Given the description of an element on the screen output the (x, y) to click on. 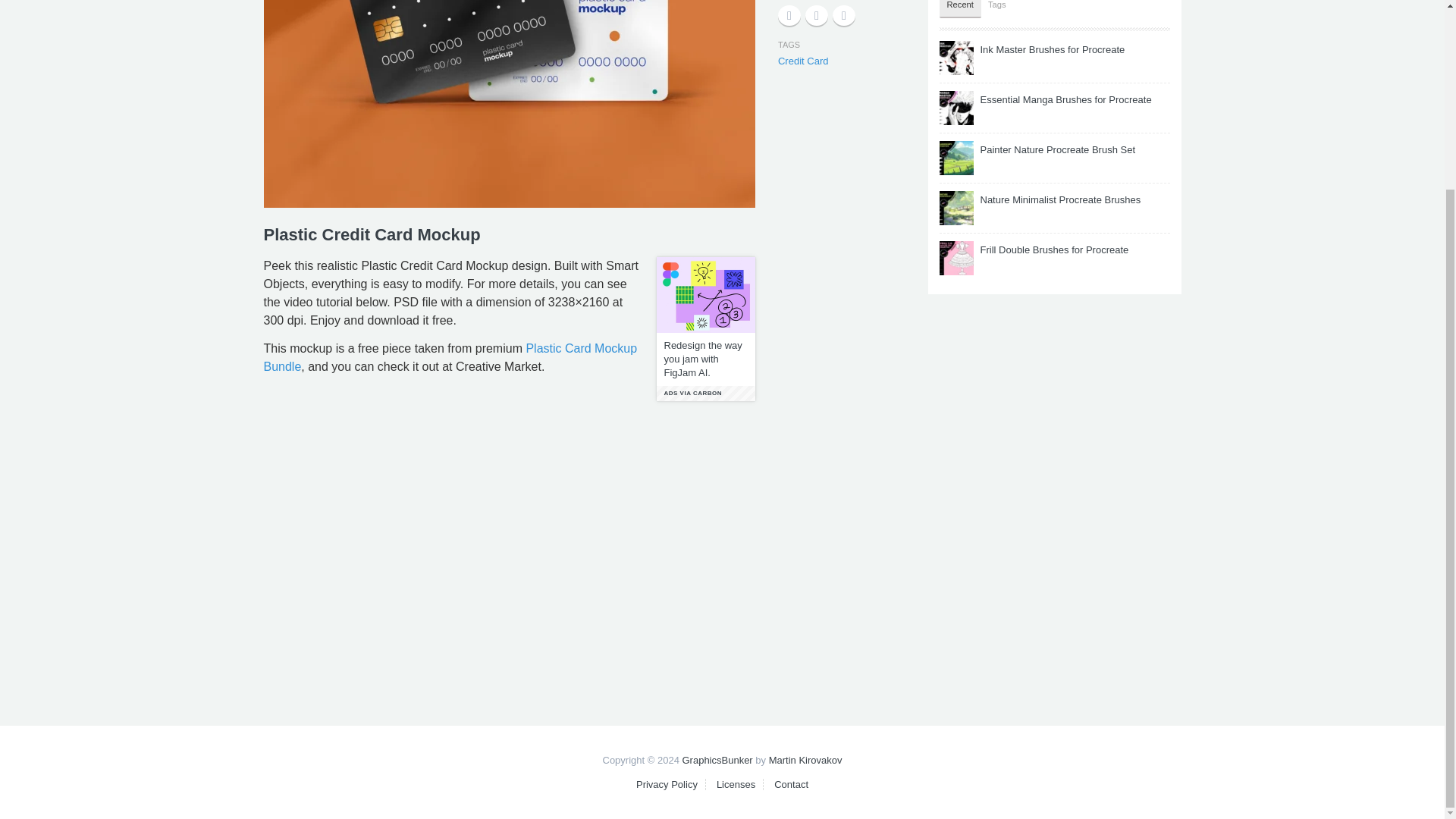
Plastic Credit Card Mockup (509, 104)
Redesign the way you jam with FigJam AI. (705, 359)
ADS VIA CARBON (705, 393)
Credit Card (802, 60)
Plastic Card Mockup Bundle (450, 357)
